Given the description of an element on the screen output the (x, y) to click on. 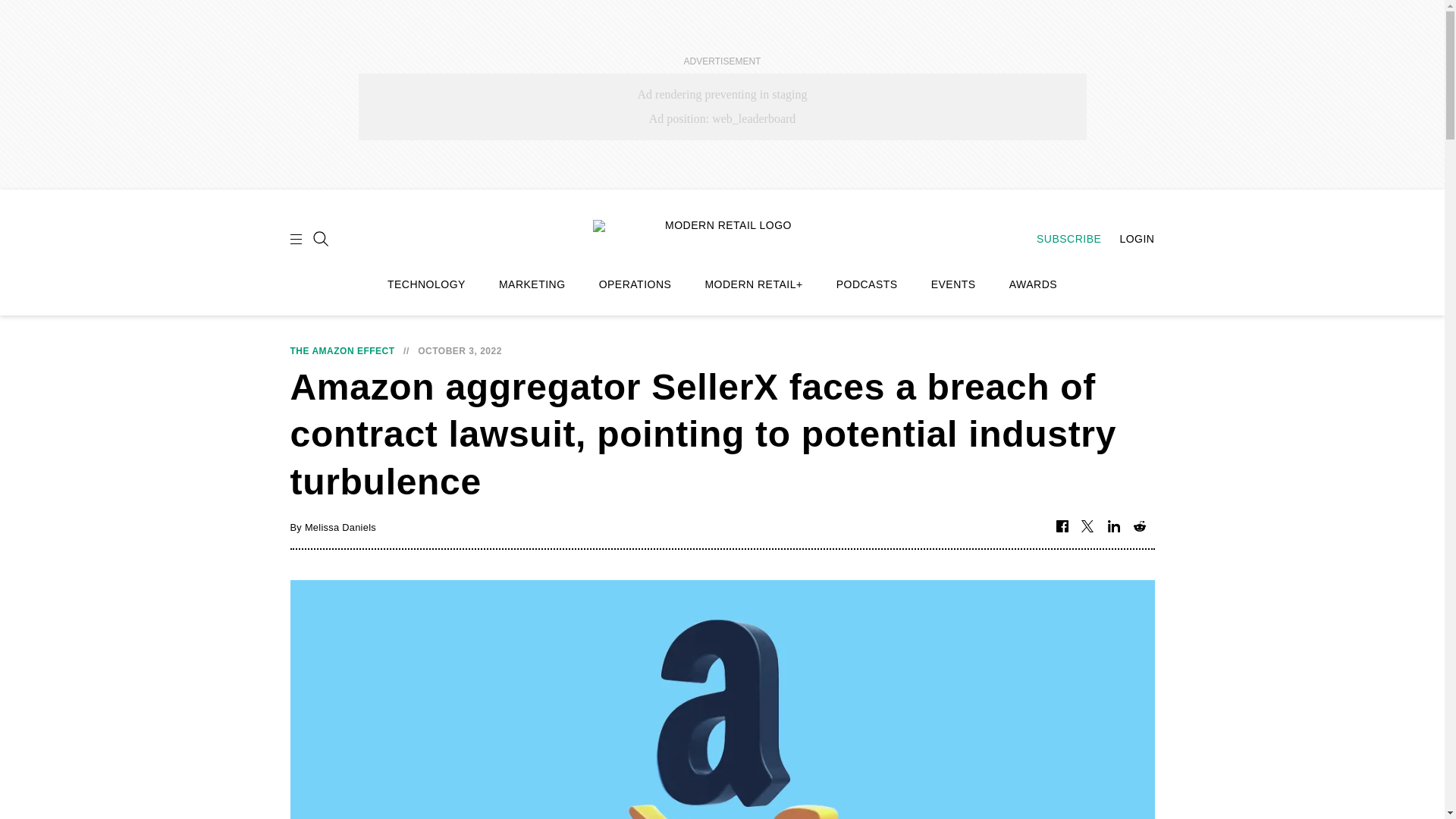
LOGIN (1128, 238)
Share on LinkedIn (1113, 526)
AWARDS (1033, 284)
Share on Twitter (1087, 526)
Modern Retail home (722, 236)
Share on Facebook (1061, 526)
PODCASTS (866, 284)
OPERATIONS (634, 284)
TECHNOLOGY (426, 284)
MARKETING (532, 284)
SUBSCRIBE (1061, 238)
Share on Reddit (1139, 526)
EVENTS (953, 284)
